Given the description of an element on the screen output the (x, y) to click on. 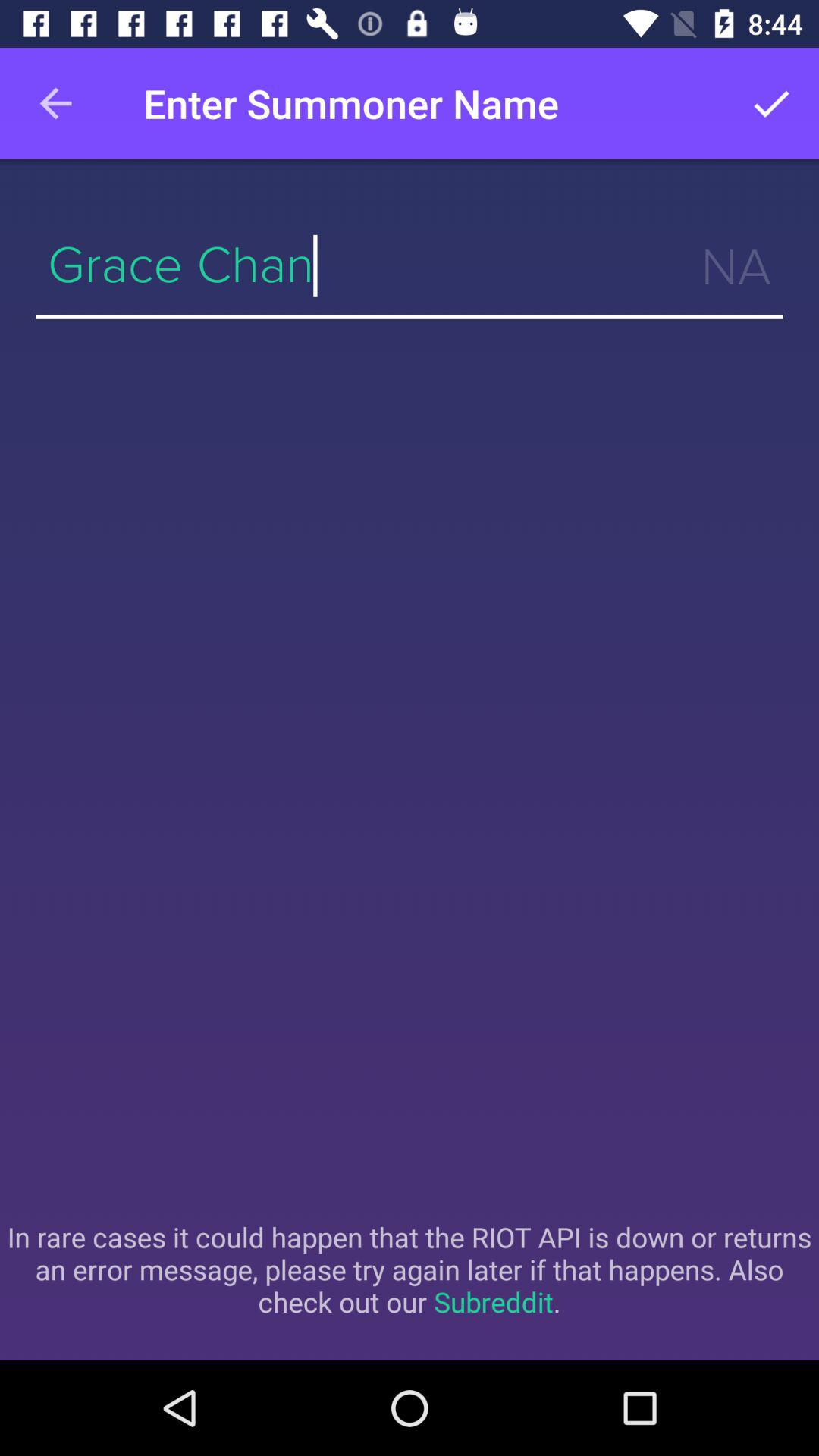
turn off the icon to the right of enter summoner name item (771, 103)
